Given the description of an element on the screen output the (x, y) to click on. 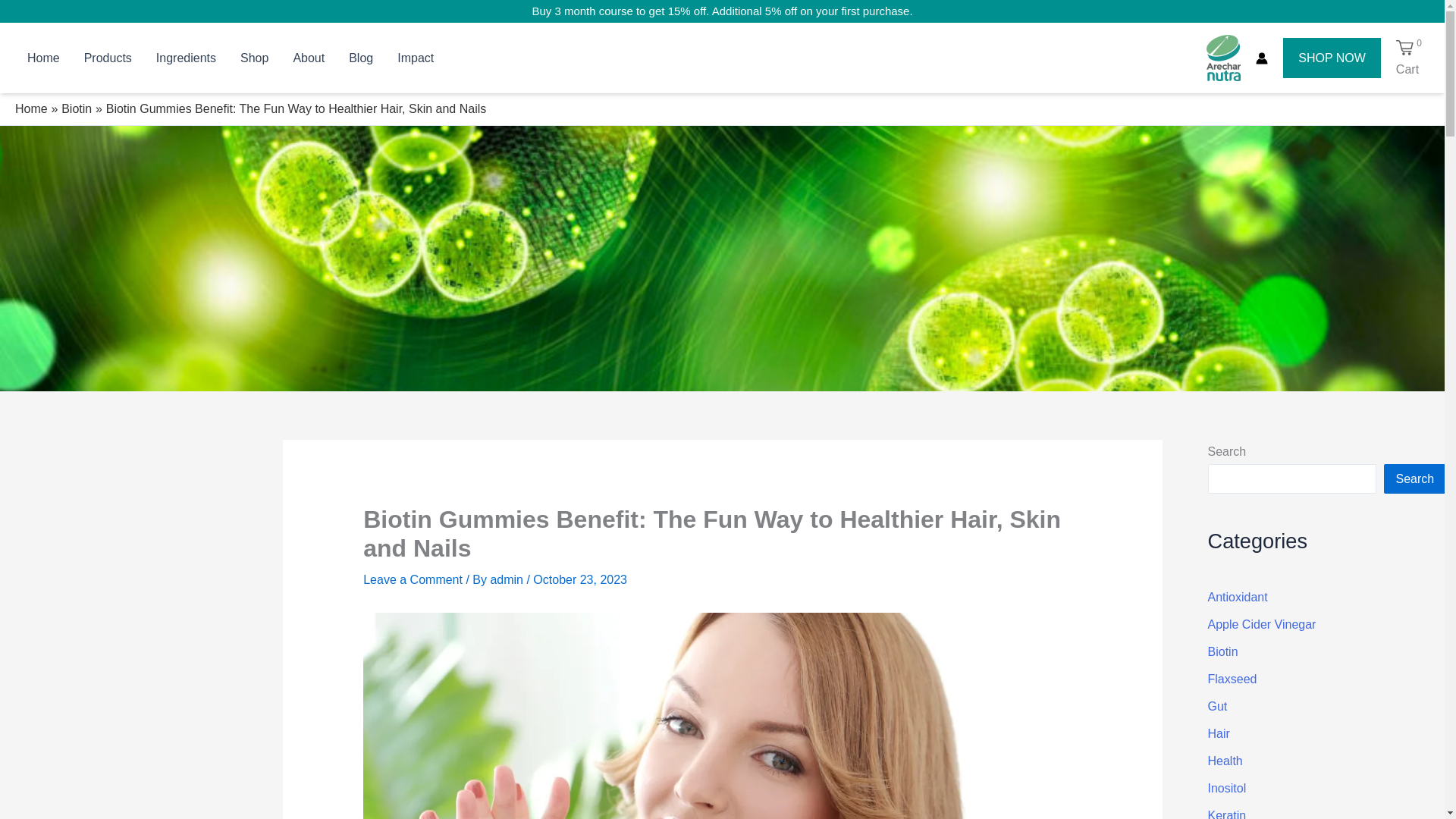
SHOP NOW (1331, 57)
Products (107, 58)
admin (507, 579)
Biotin (76, 108)
Shop (254, 58)
View all posts by admin (507, 579)
Home (31, 108)
Home (42, 58)
About (308, 58)
Blog (360, 58)
Impact (415, 58)
Ingredients (186, 58)
Leave a Comment (412, 579)
